Given the description of an element on the screen output the (x, y) to click on. 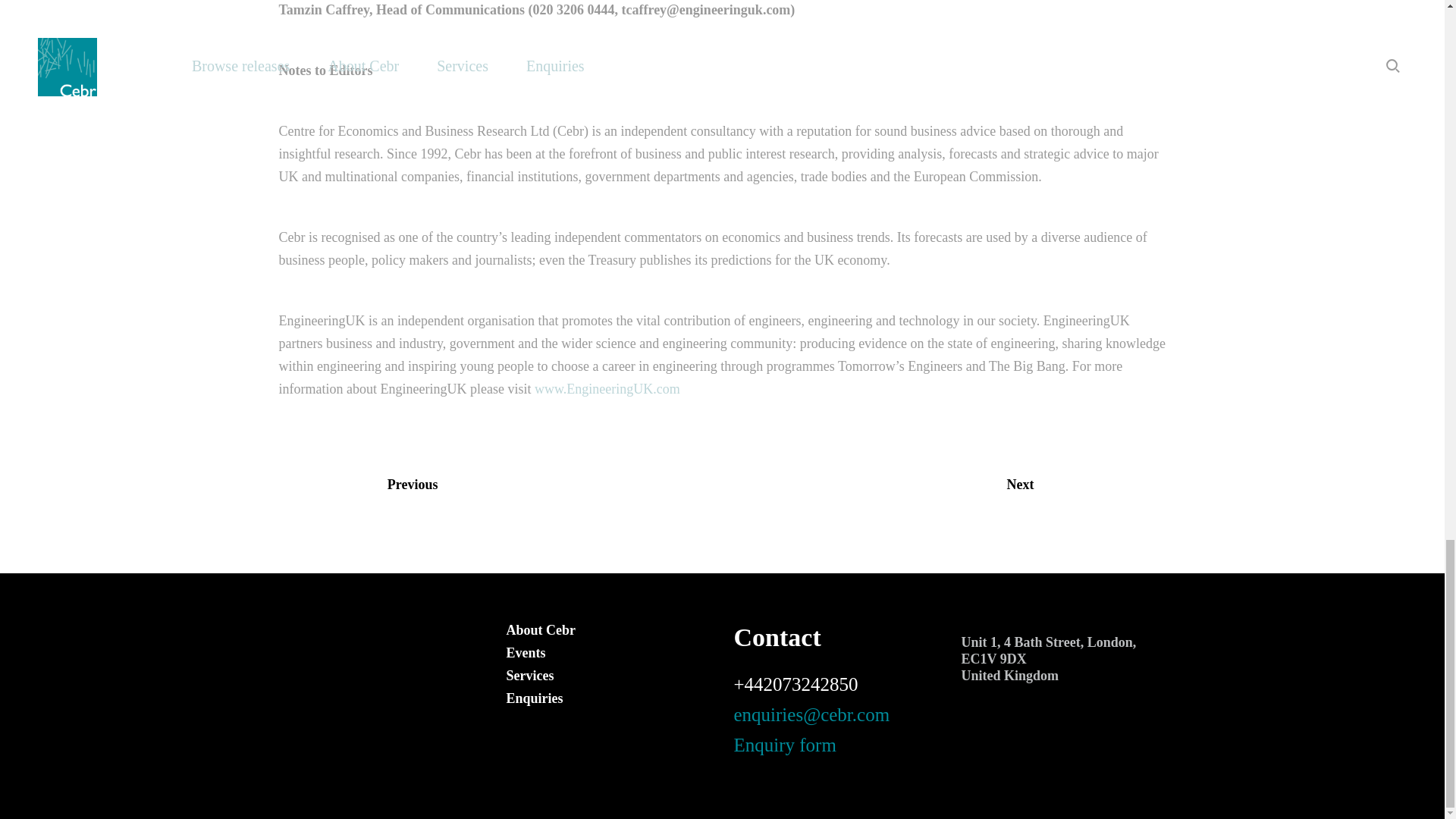
Engineering UK (606, 388)
www.EngineeringUK.com (606, 388)
Previous (495, 493)
